Given the description of an element on the screen output the (x, y) to click on. 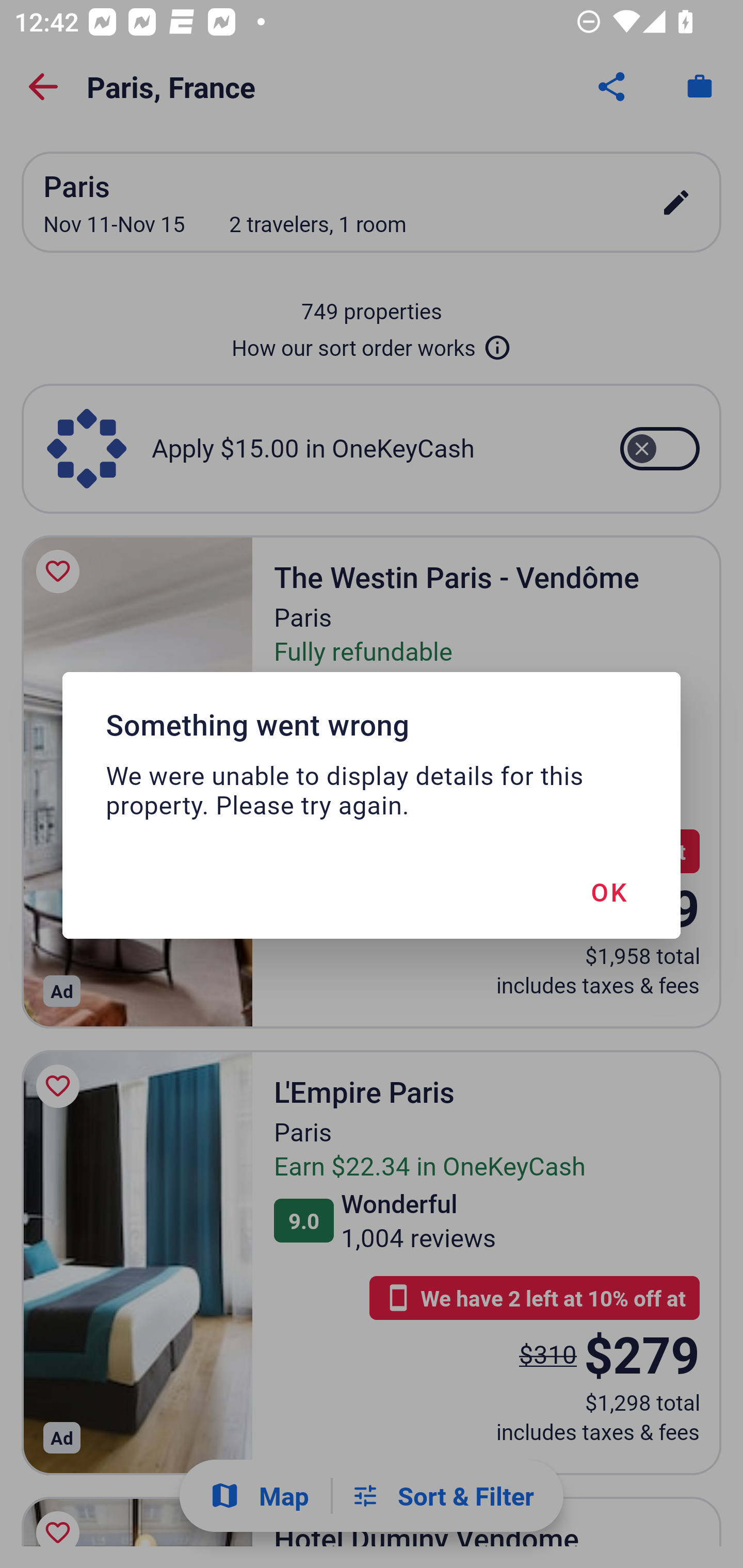
OK (608, 891)
